Given the description of an element on the screen output the (x, y) to click on. 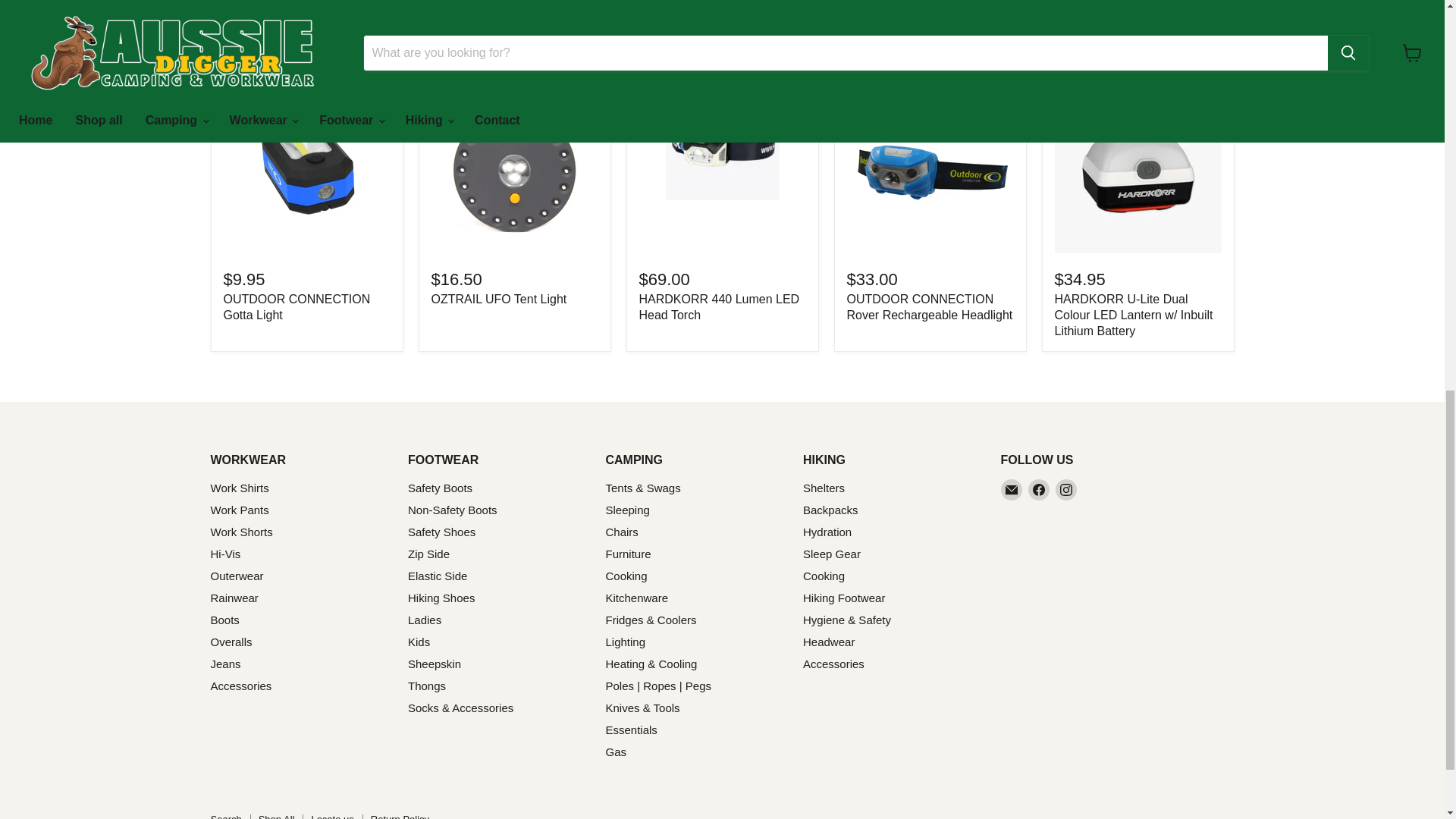
Instagram (1066, 489)
Email (1011, 489)
Facebook (1038, 489)
